Given the description of an element on the screen output the (x, y) to click on. 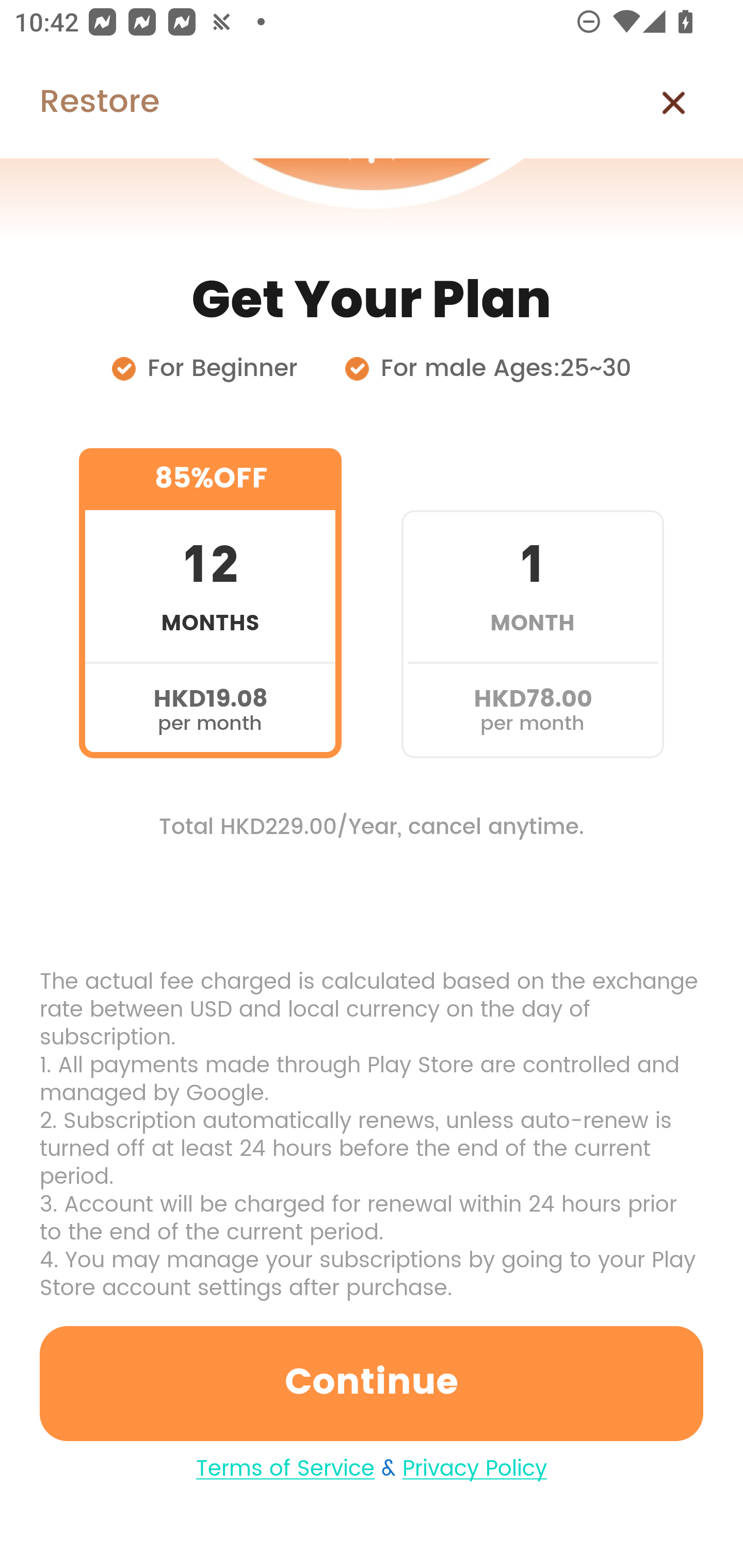
Restore (79, 102)
85%OFF 12 MONTHS per month HKD19.08 (209, 603)
1 MONTH per month HKD78.00 (532, 603)
Continue (371, 1383)
